Given the description of an element on the screen output the (x, y) to click on. 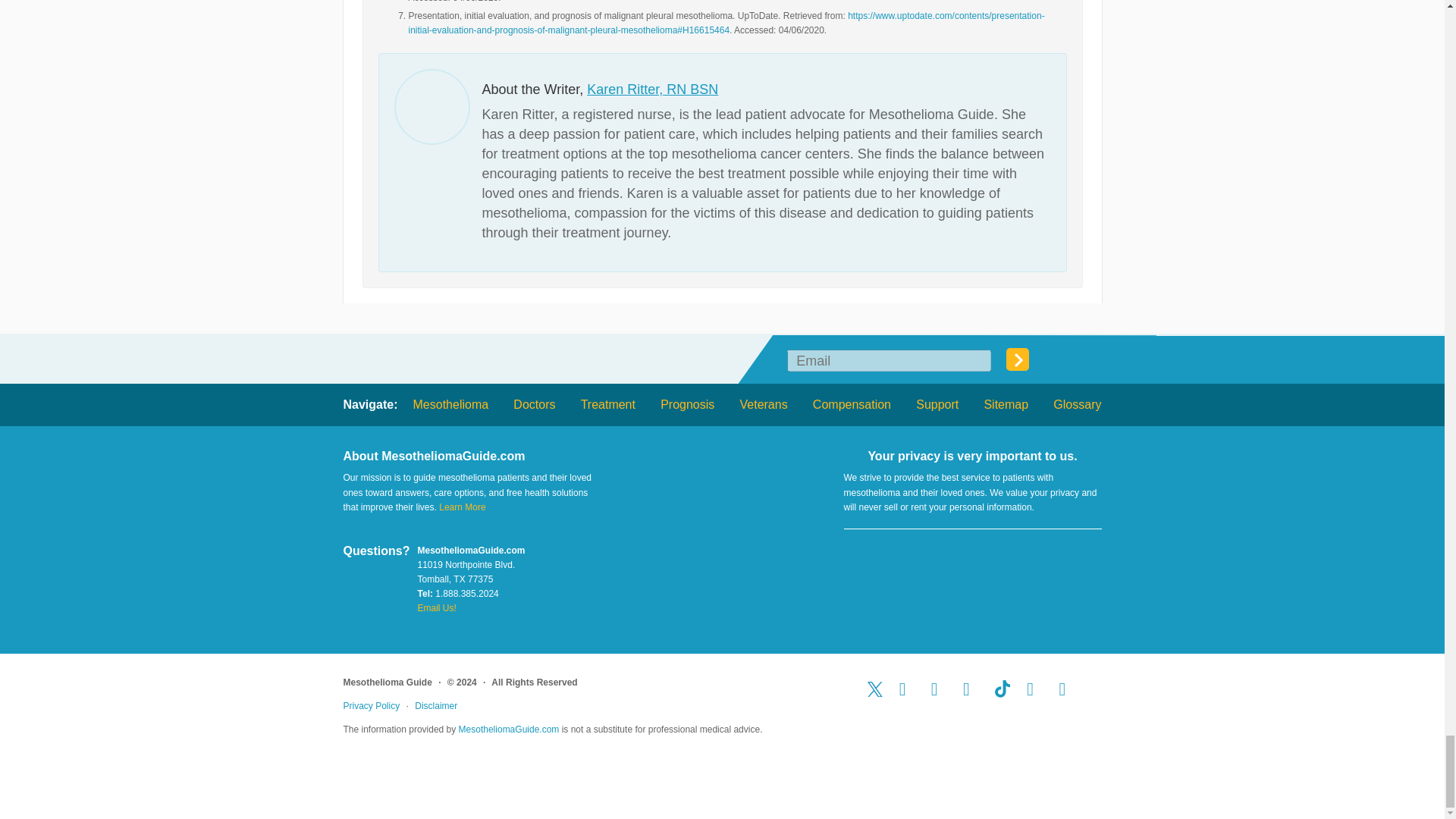
Please provide a valid email. (889, 360)
Mesothelioma Guide, Health Care Referral, Orlando, FL (972, 566)
